Given the description of an element on the screen output the (x, y) to click on. 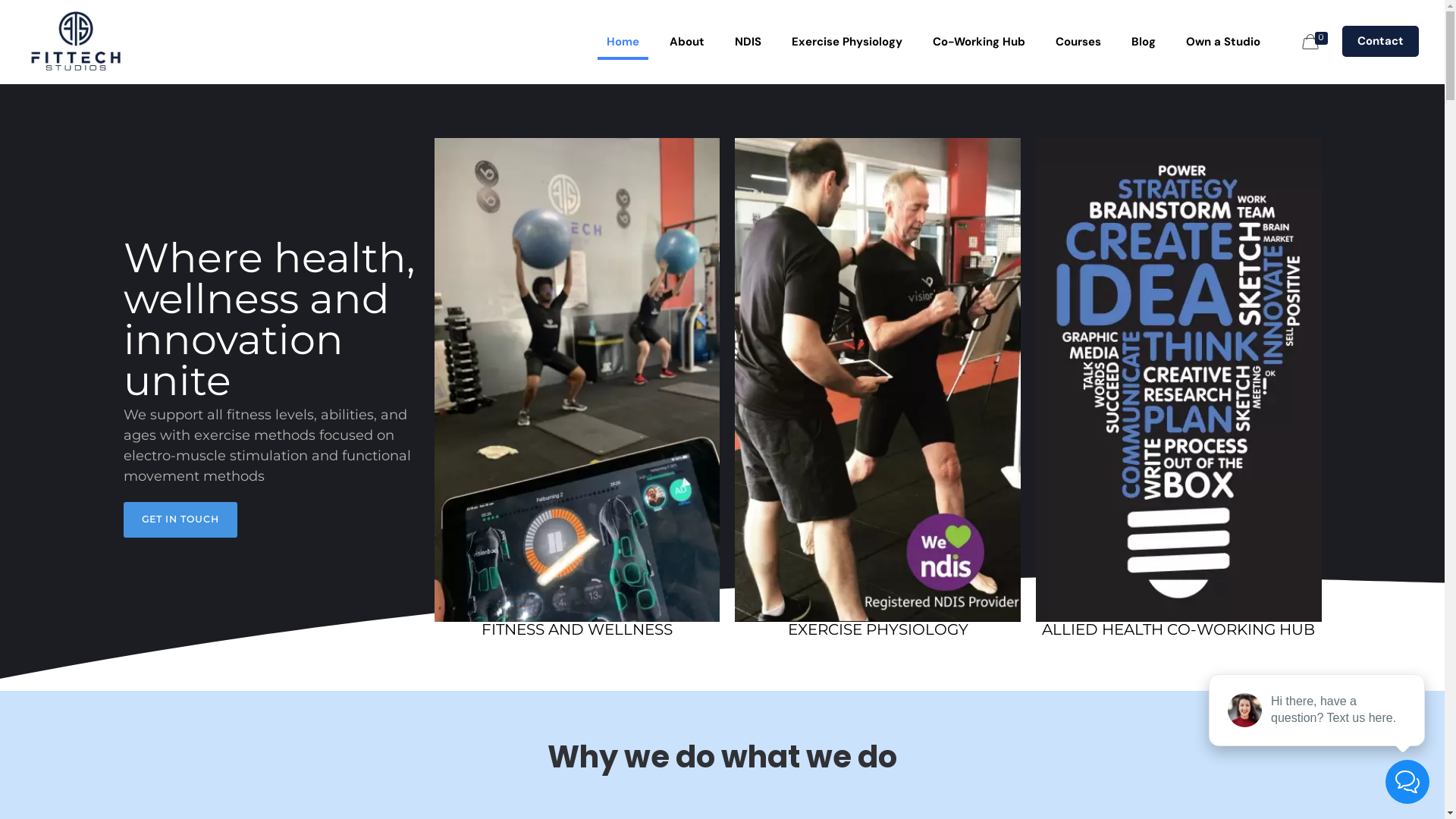
0 Element type: text (1316, 43)
Home Element type: text (622, 41)
NDIS Element type: text (747, 41)
Courses Element type: text (1078, 41)
FitTech Studios Element type: hover (75, 41)
Blog Element type: text (1143, 41)
GET IN TOUCH Element type: text (179, 519)
Contact Element type: text (1380, 40)
Co-Working Hub Element type: text (978, 41)
About Element type: text (686, 41)
Own a Studio Element type: text (1222, 41)
Exercise Physiology Element type: text (846, 41)
